Given the description of an element on the screen output the (x, y) to click on. 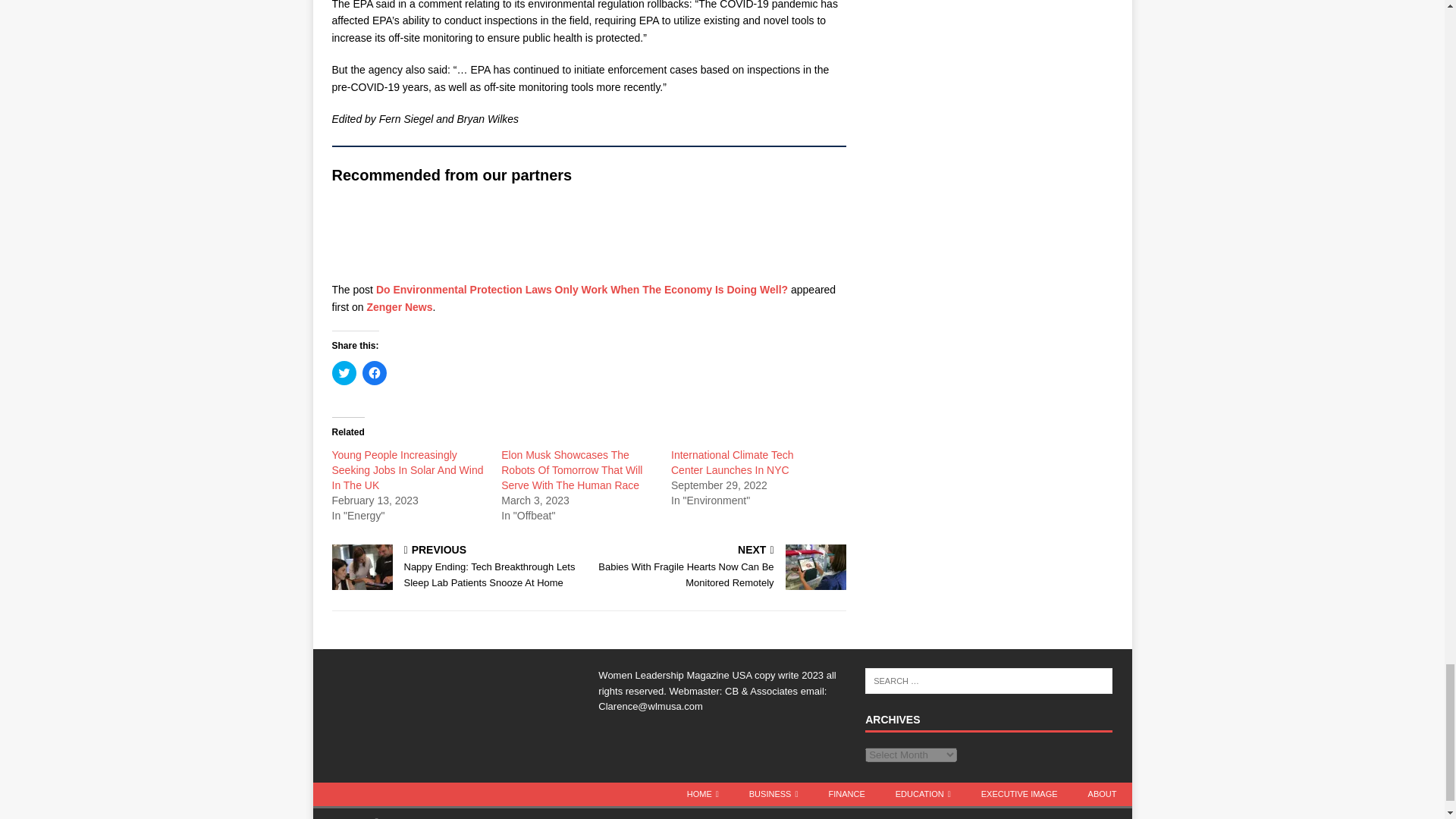
Click to share on Facebook (374, 372)
International Climate Tech Center Launches In NYC (732, 461)
Click to share on Twitter (343, 372)
